Given the description of an element on the screen output the (x, y) to click on. 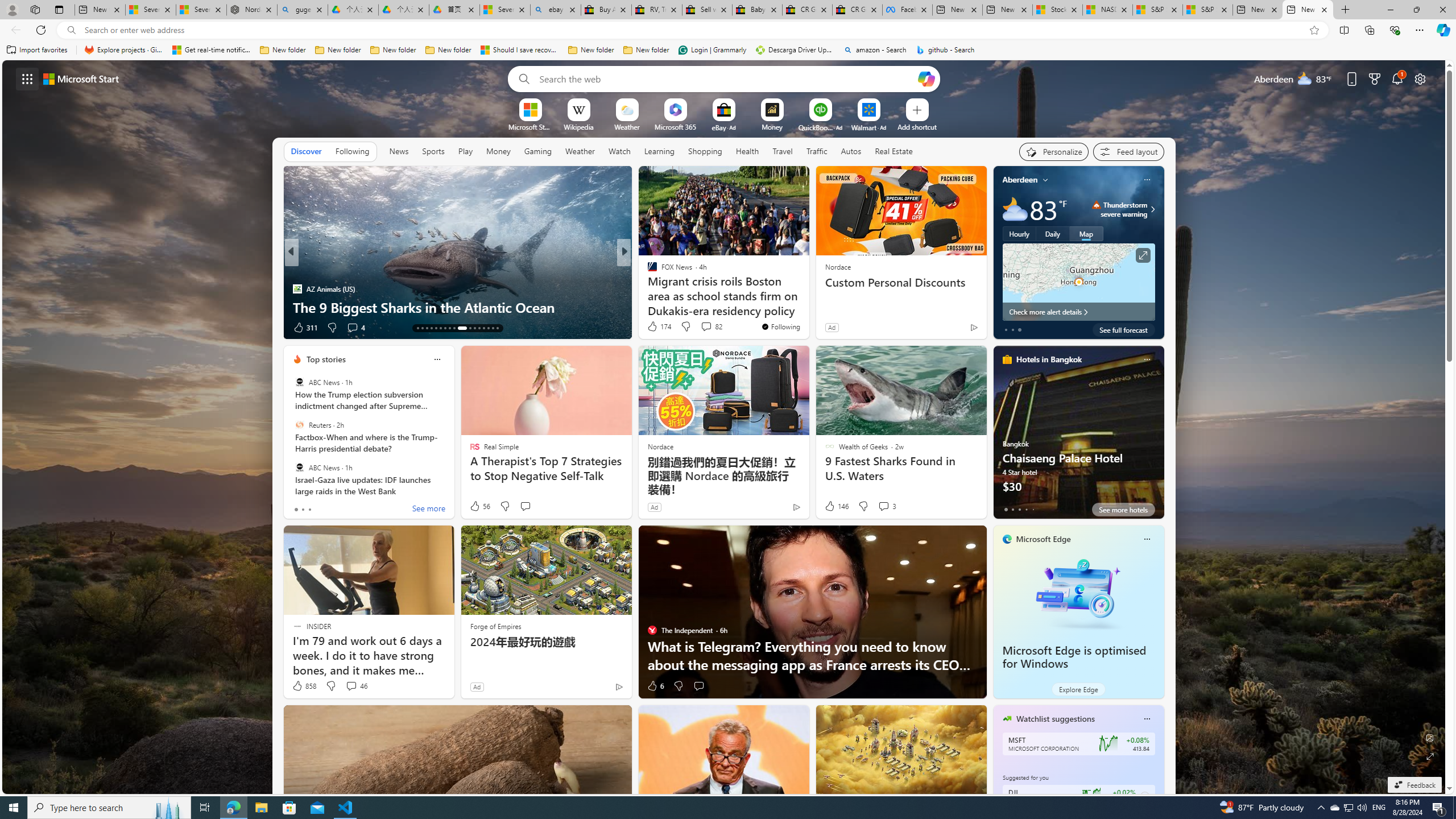
AutomationID: tab-22 (461, 328)
AutomationID: tab-13 (417, 328)
View comments 10 Comment (698, 327)
The Atlantic (647, 288)
Facebook (907, 9)
Hourly (1018, 233)
Open Copilot (926, 78)
AutomationID: tab-14 (422, 328)
Shopping (705, 151)
View comments 2 Comment (702, 327)
CNN (647, 270)
Thunderstorm - Severe Thunderstorm severe warning (1119, 208)
Custom Personal Discounts (900, 282)
Ad (476, 686)
